Given the description of an element on the screen output the (x, y) to click on. 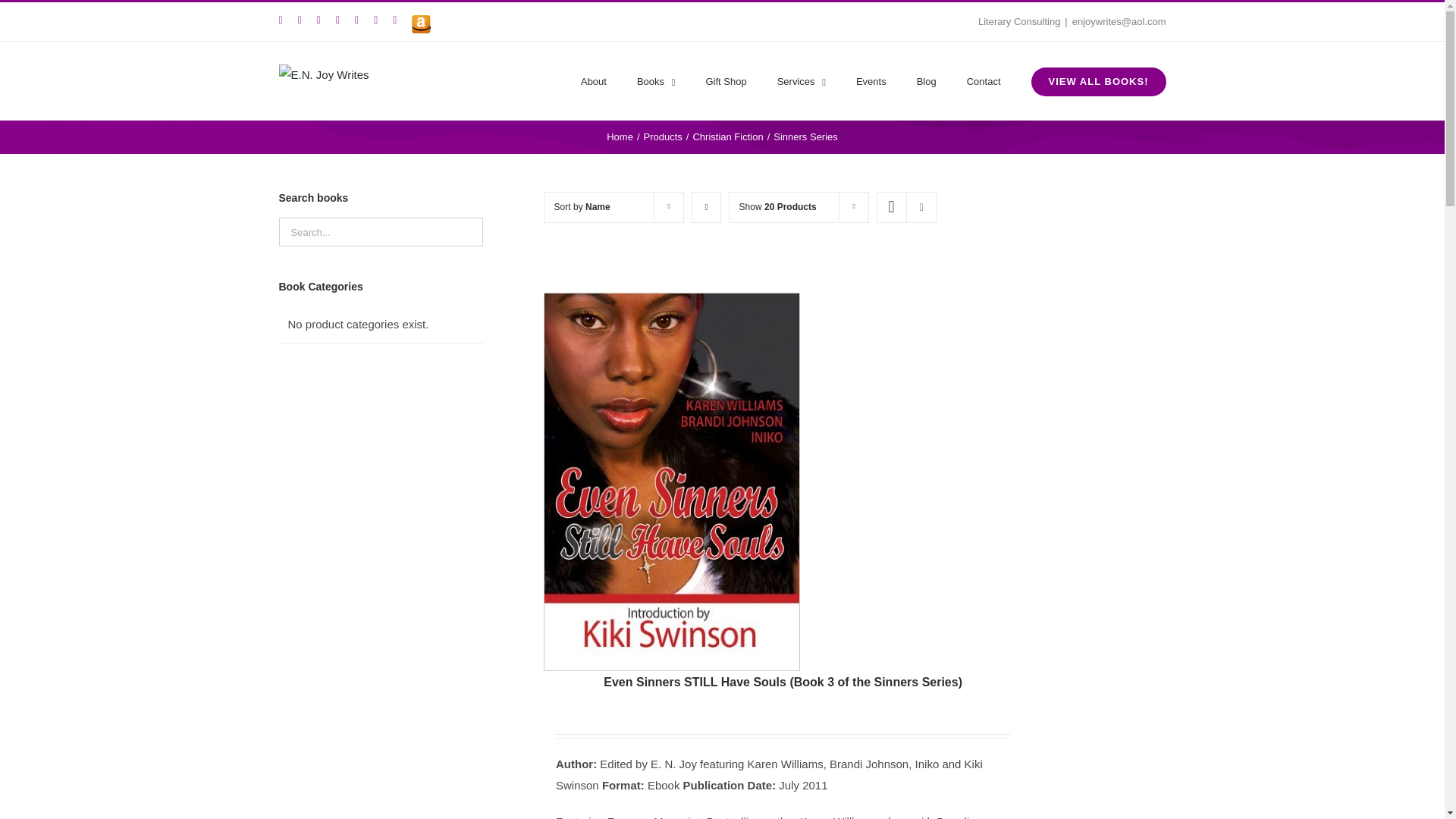
Christian Fiction (727, 136)
Home (620, 136)
Products (662, 136)
VIEW ALL BOOKS! (1098, 80)
Sort by Name (582, 206)
Literary Consulting (1018, 20)
Amazon Author Central (421, 24)
Show 20 Products (777, 206)
